Given the description of an element on the screen output the (x, y) to click on. 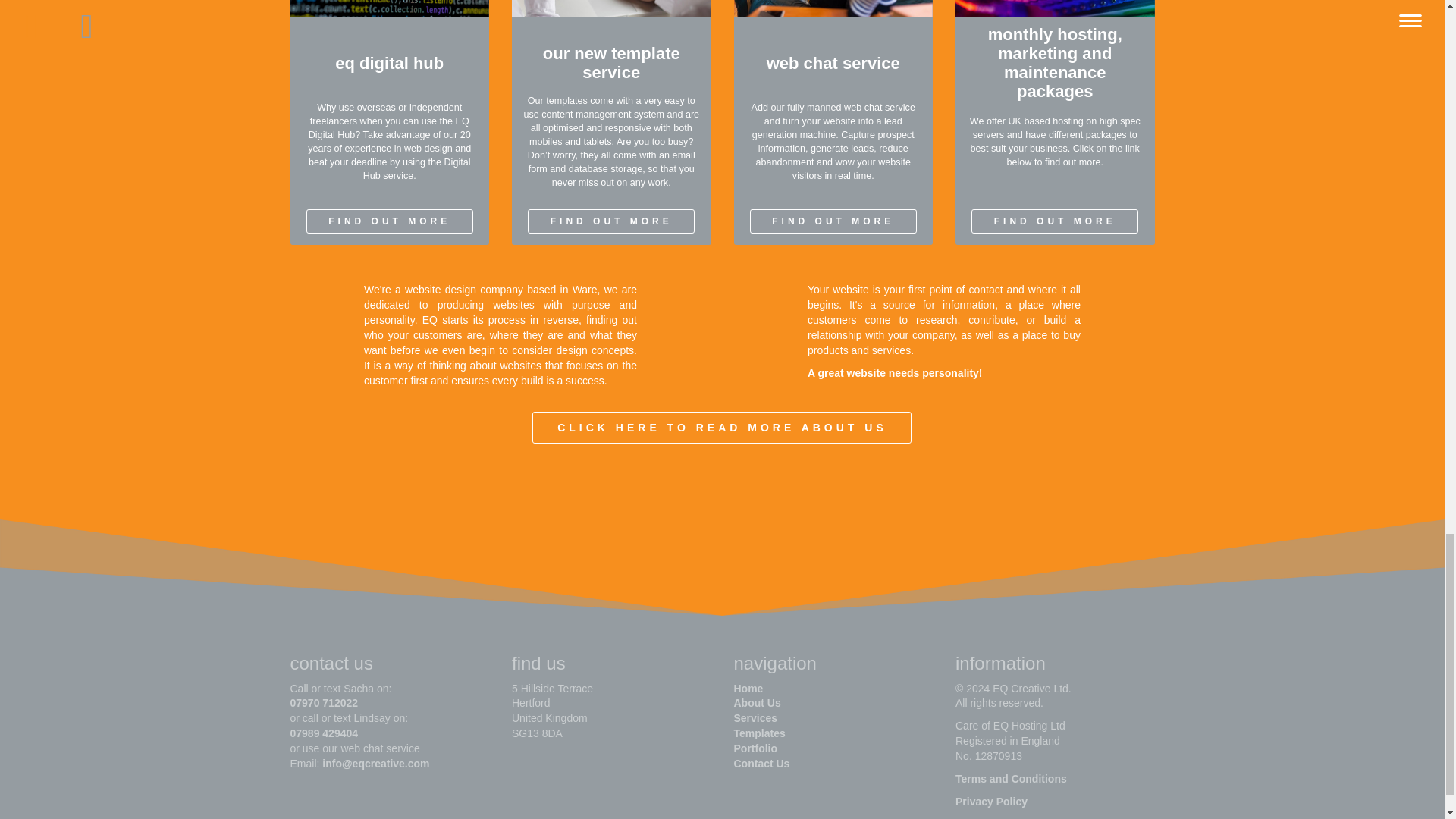
Web chat service (833, 8)
07989 429404 (323, 733)
EQ Digital Hub (389, 8)
Home (747, 688)
FIND OUT MORE (1054, 221)
07970 712022 (323, 702)
FIND OUT MORE (610, 221)
Monthly hosting, marketing and maintenance packages (1054, 8)
FIND OUT MORE (833, 221)
FIND OUT MORE (389, 221)
Our new template service (611, 8)
CLICK HERE TO READ MORE ABOUT US (721, 427)
